Given the description of an element on the screen output the (x, y) to click on. 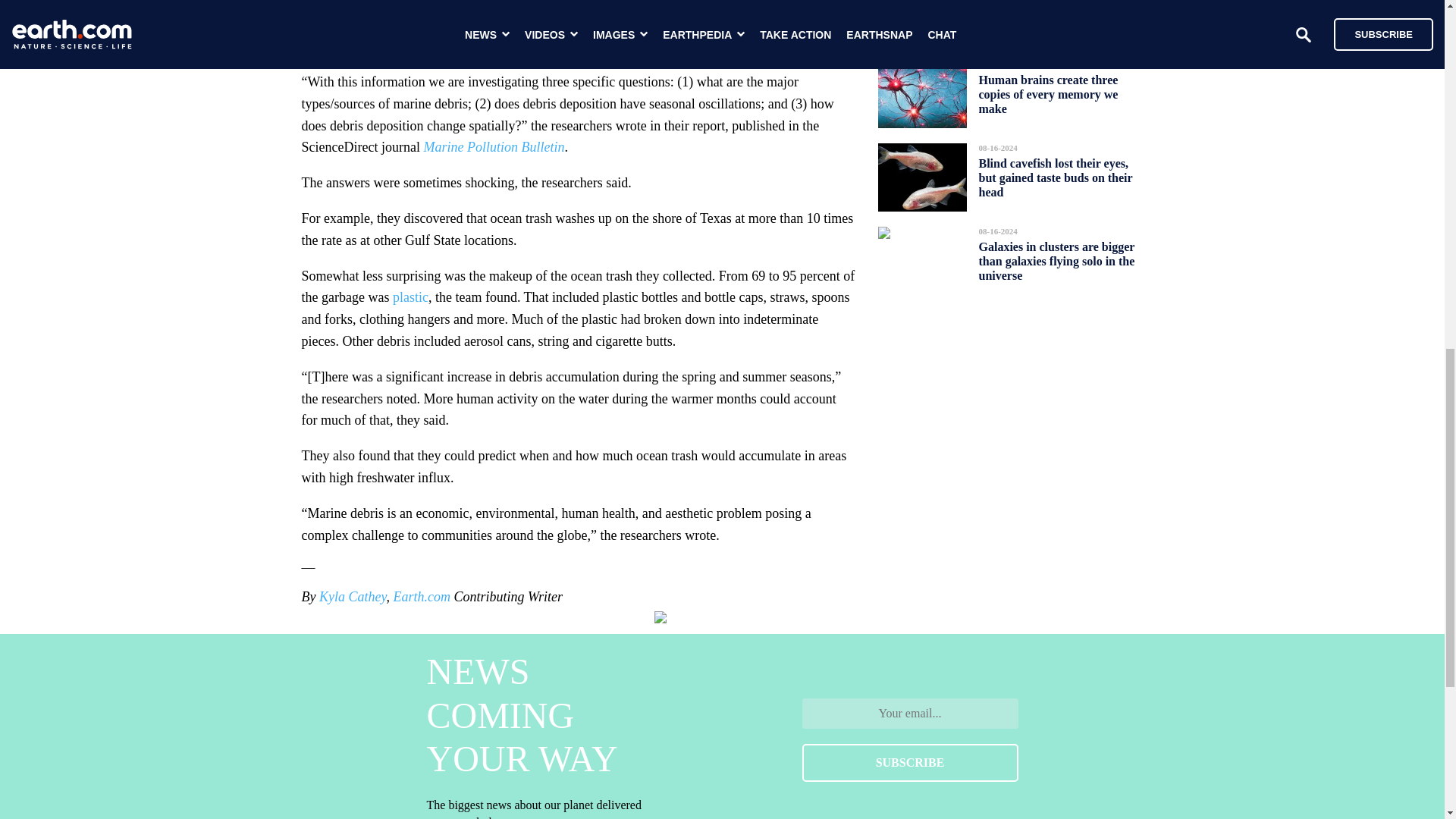
plastic (410, 296)
Marine Pollution Bulletin (493, 146)
Kyla Cathey (352, 596)
Human brains create three copies of every memory we make (1048, 94)
Earth.com (421, 596)
